Given the description of an element on the screen output the (x, y) to click on. 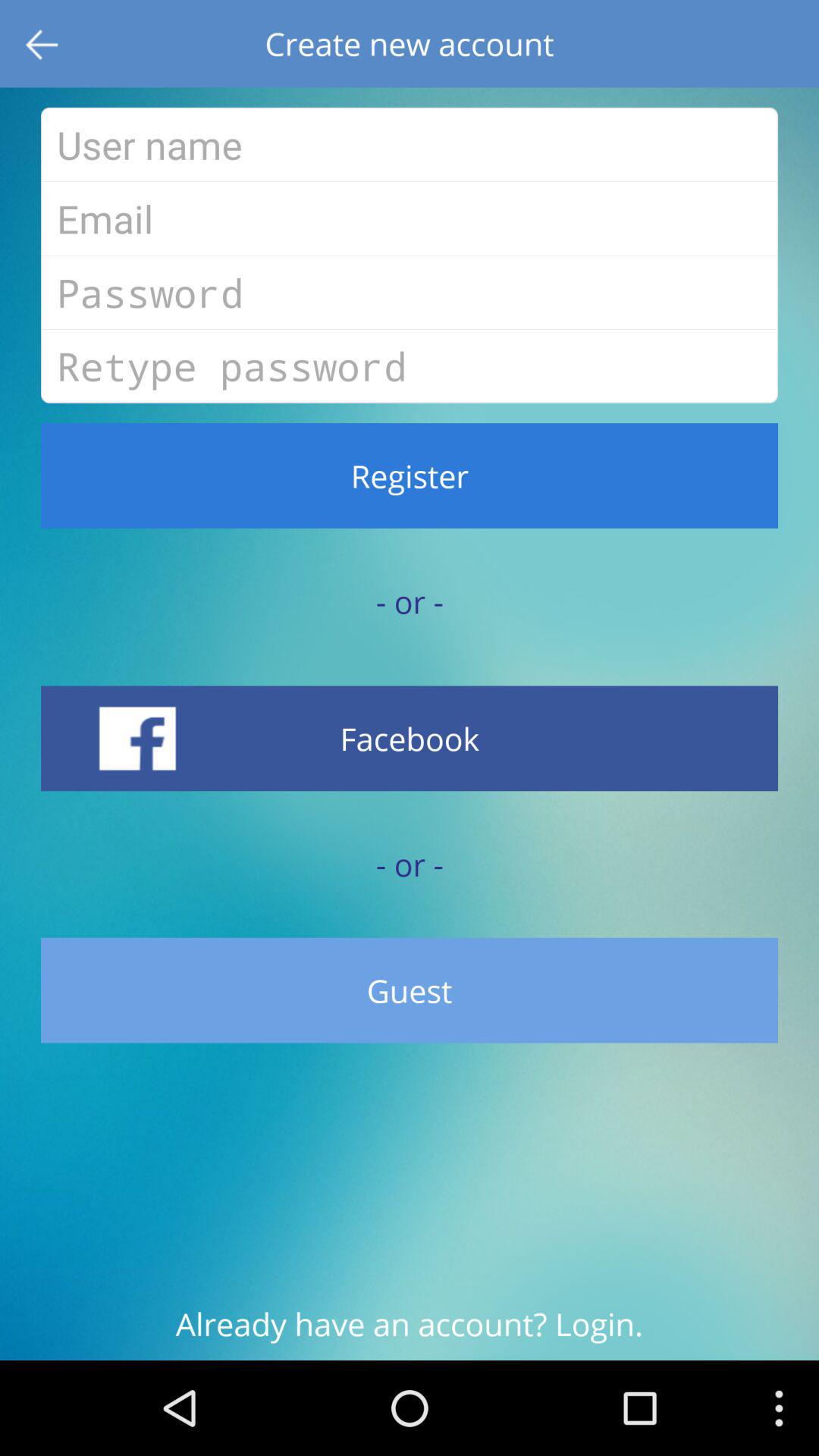
turn off the item next to the create new account (43, 43)
